Given the description of an element on the screen output the (x, y) to click on. 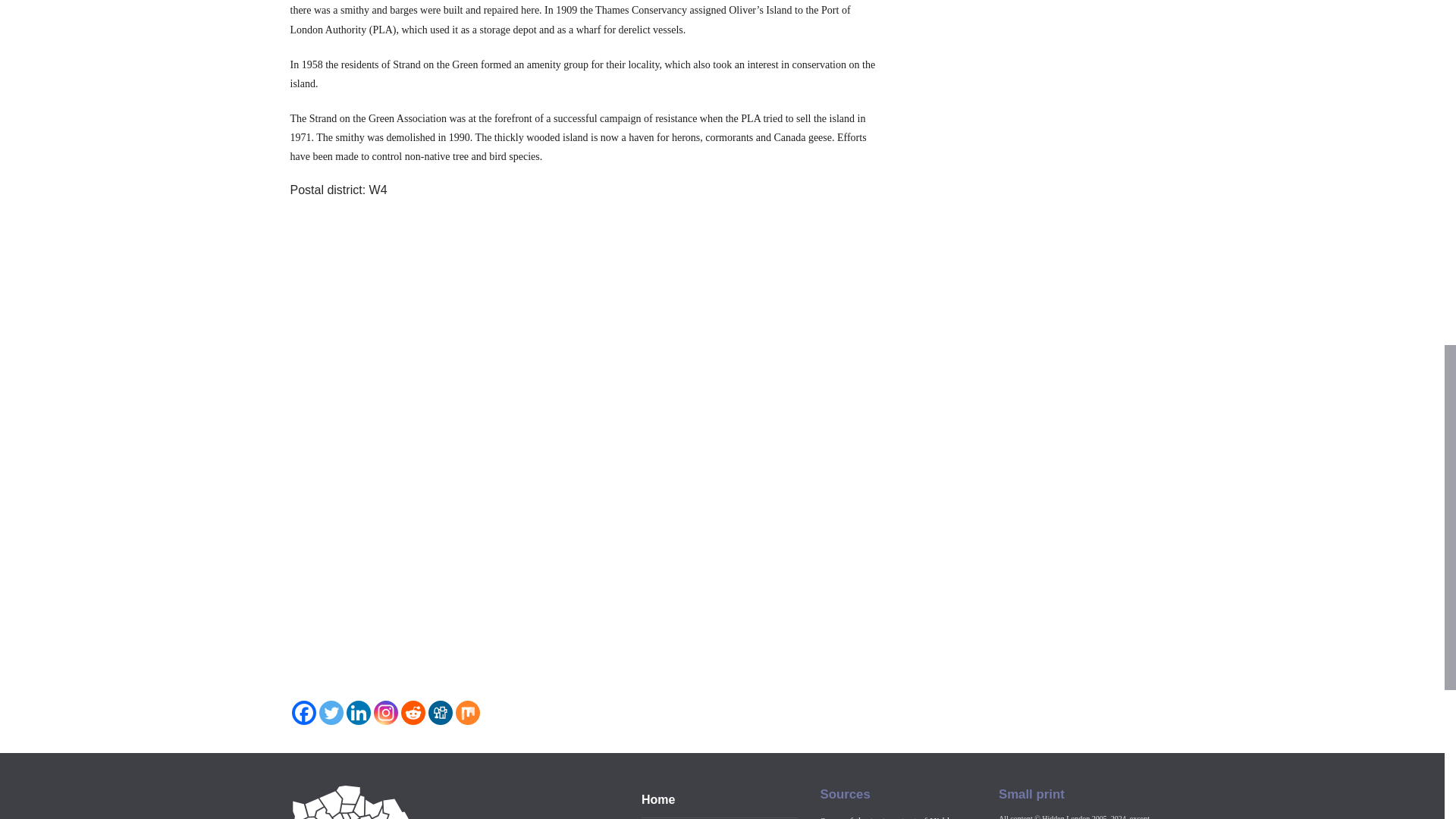
Hidden London (421, 801)
Facebook (303, 712)
Linkedin (357, 712)
Instagram (384, 712)
Home (658, 799)
Reddit (412, 712)
Digg (439, 712)
Mix (466, 712)
Twitter (330, 712)
